Given the description of an element on the screen output the (x, y) to click on. 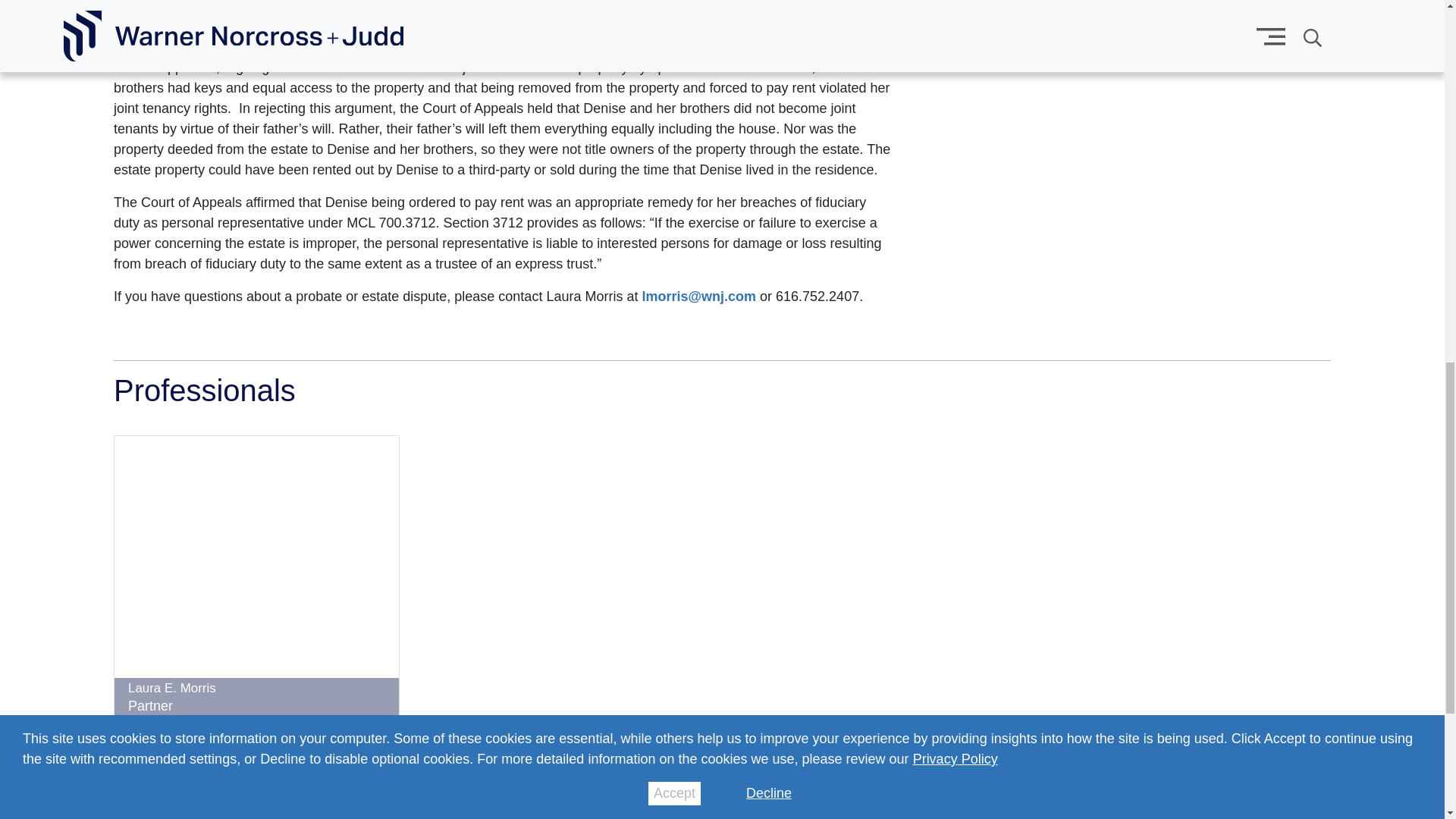
Laura E. Morris (171, 687)
